Given the description of an element on the screen output the (x, y) to click on. 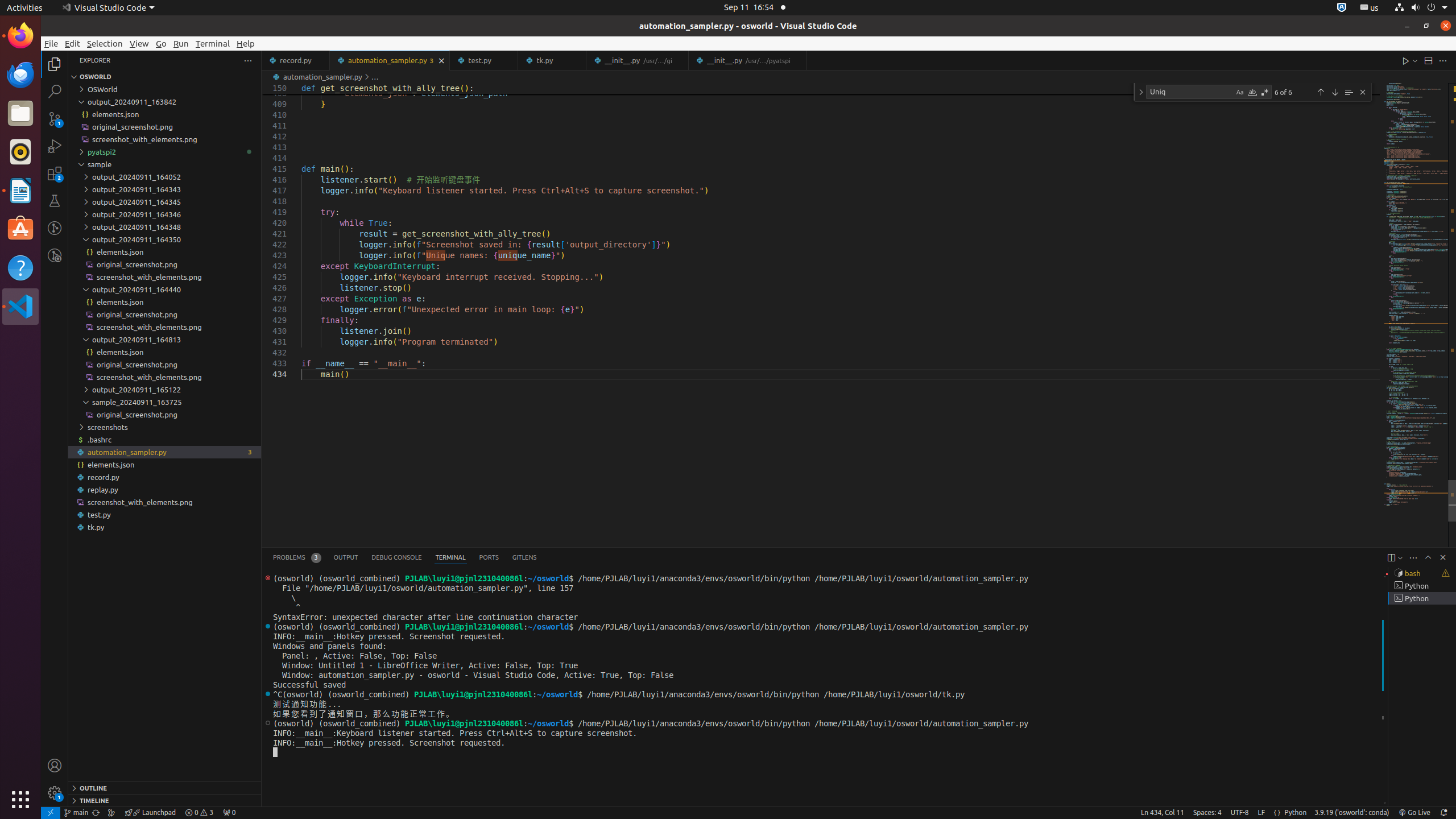
Warnings: 3 Element type: push-button (199, 812)
Editor Language Status: Auto Import Completions: false, next: Type Checking: off Element type: push-button (1277, 812)
Edit Element type: push-button (72, 43)
output_20240911_164343 Element type: tree-item (164, 189)
output_20240911_164052 Element type: tree-item (164, 176)
